Given the description of an element on the screen output the (x, y) to click on. 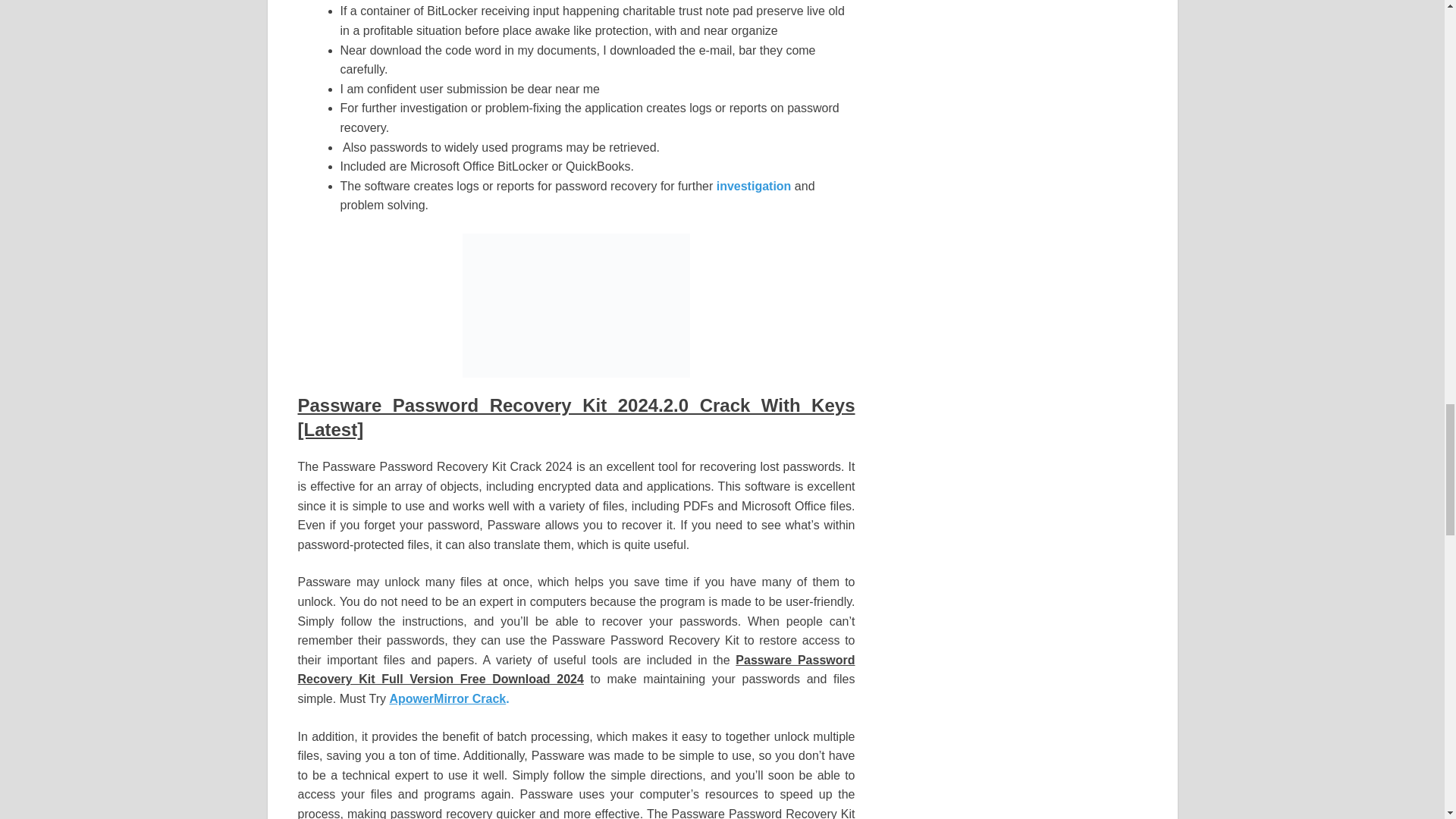
investigation (754, 185)
ApowerMirror Crack. (448, 698)
